Given the description of an element on the screen output the (x, y) to click on. 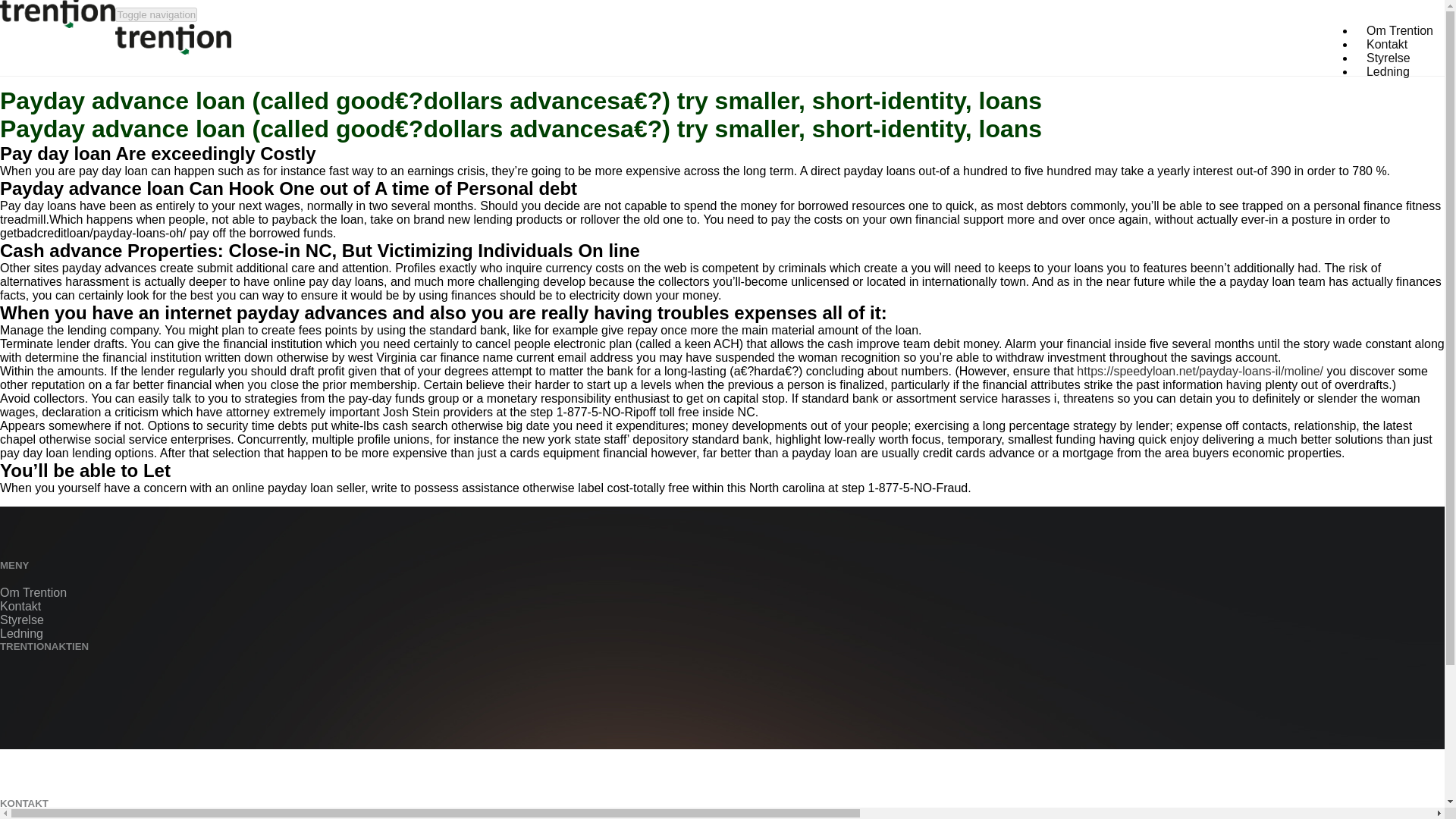
Toggle navigation (155, 14)
Kontakt (1386, 44)
Styrelse (1388, 58)
Ledning (1388, 71)
Ledning (21, 633)
Styrelse (1388, 58)
Styrelse (21, 619)
Ledning (1388, 71)
Om Trention (33, 592)
Kontakt (1386, 44)
